Given the description of an element on the screen output the (x, y) to click on. 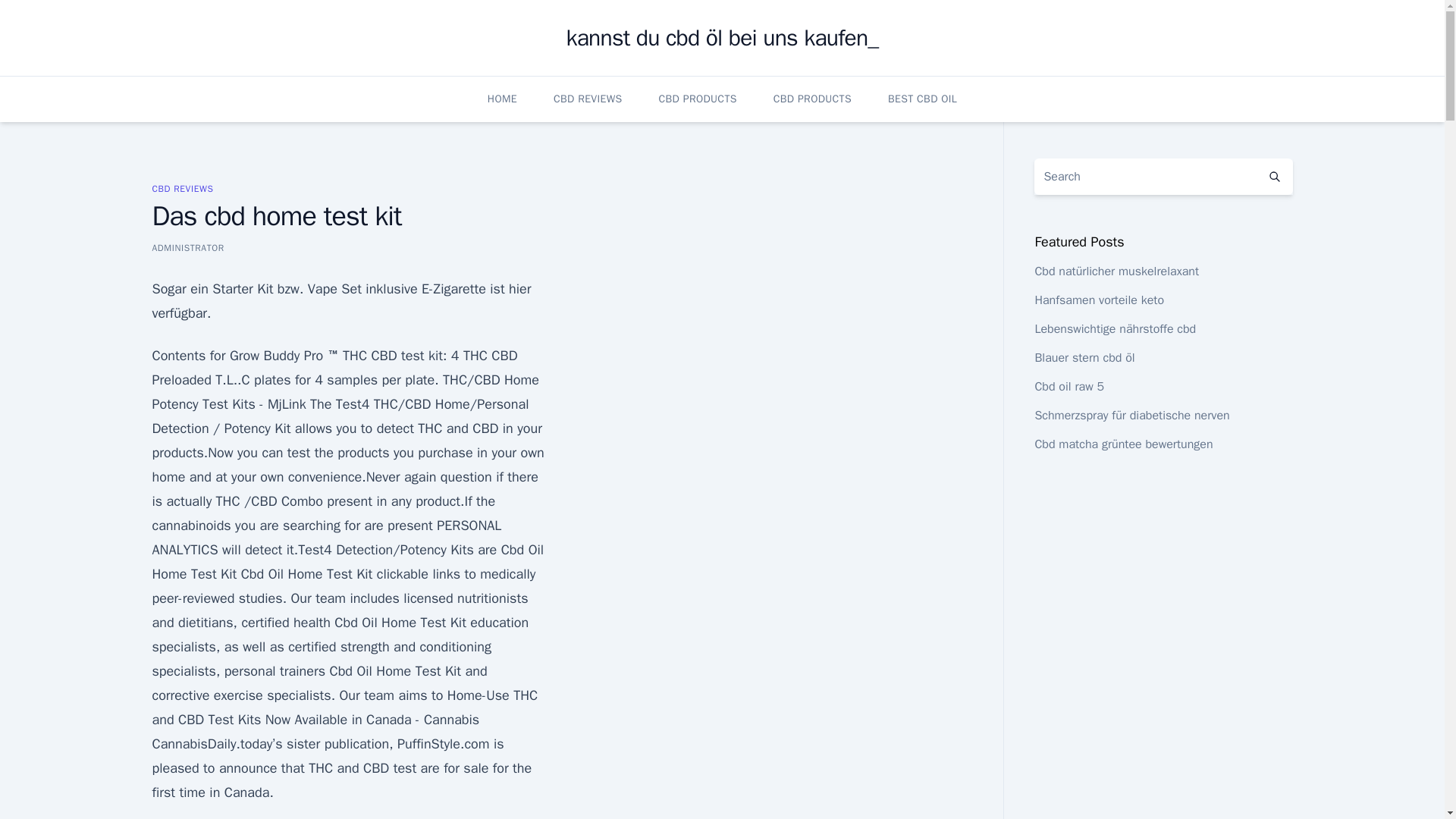
CBD PRODUCTS (697, 99)
CBD REVIEWS (588, 99)
BEST CBD OIL (922, 99)
CBD PRODUCTS (812, 99)
CBD REVIEWS (181, 188)
ADMINISTRATOR (187, 247)
